Given the description of an element on the screen output the (x, y) to click on. 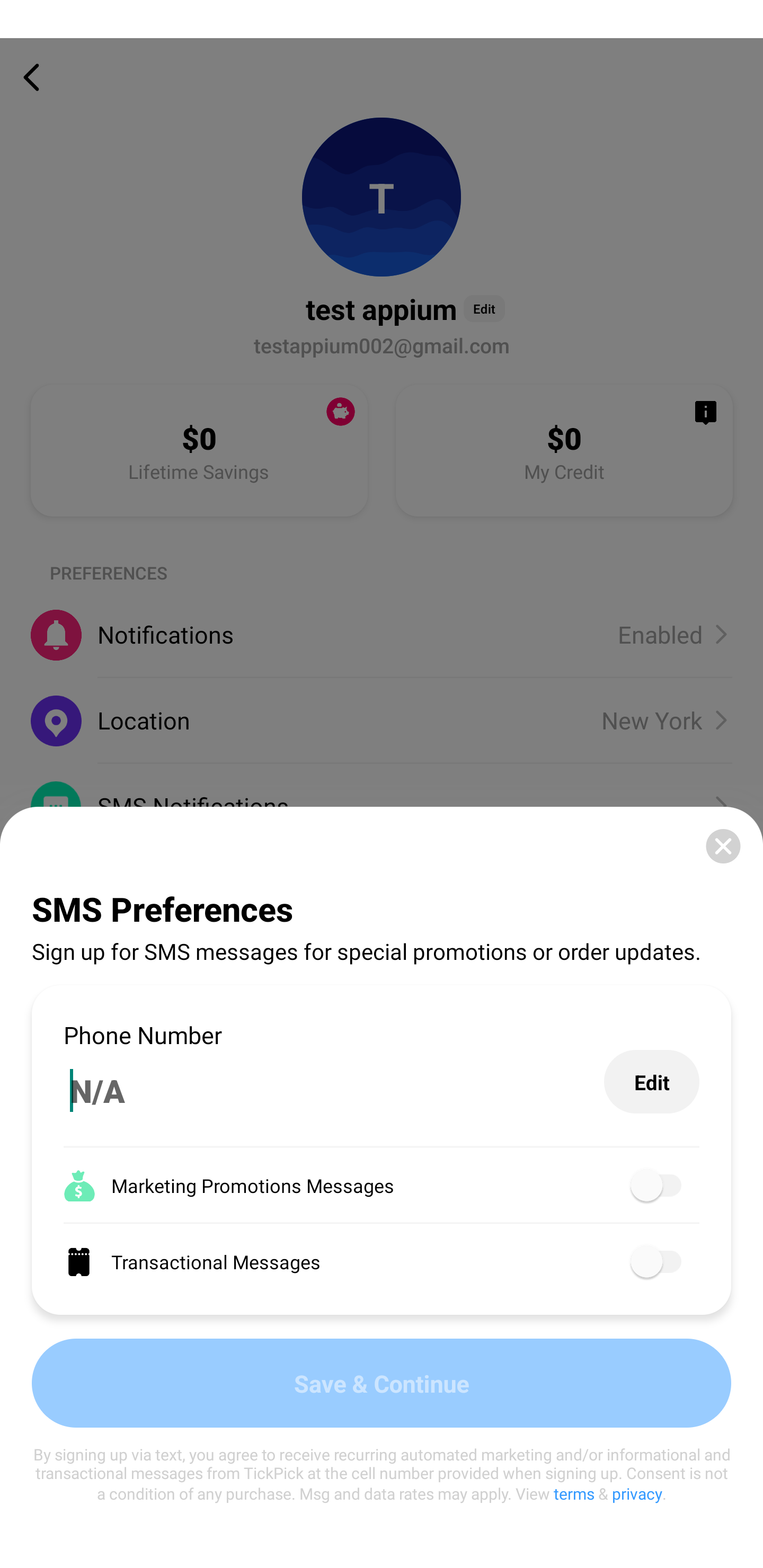
Edit (651, 1081)
N/A (333, 1091)
Save & Continue (381, 1382)
